Given the description of an element on the screen output the (x, y) to click on. 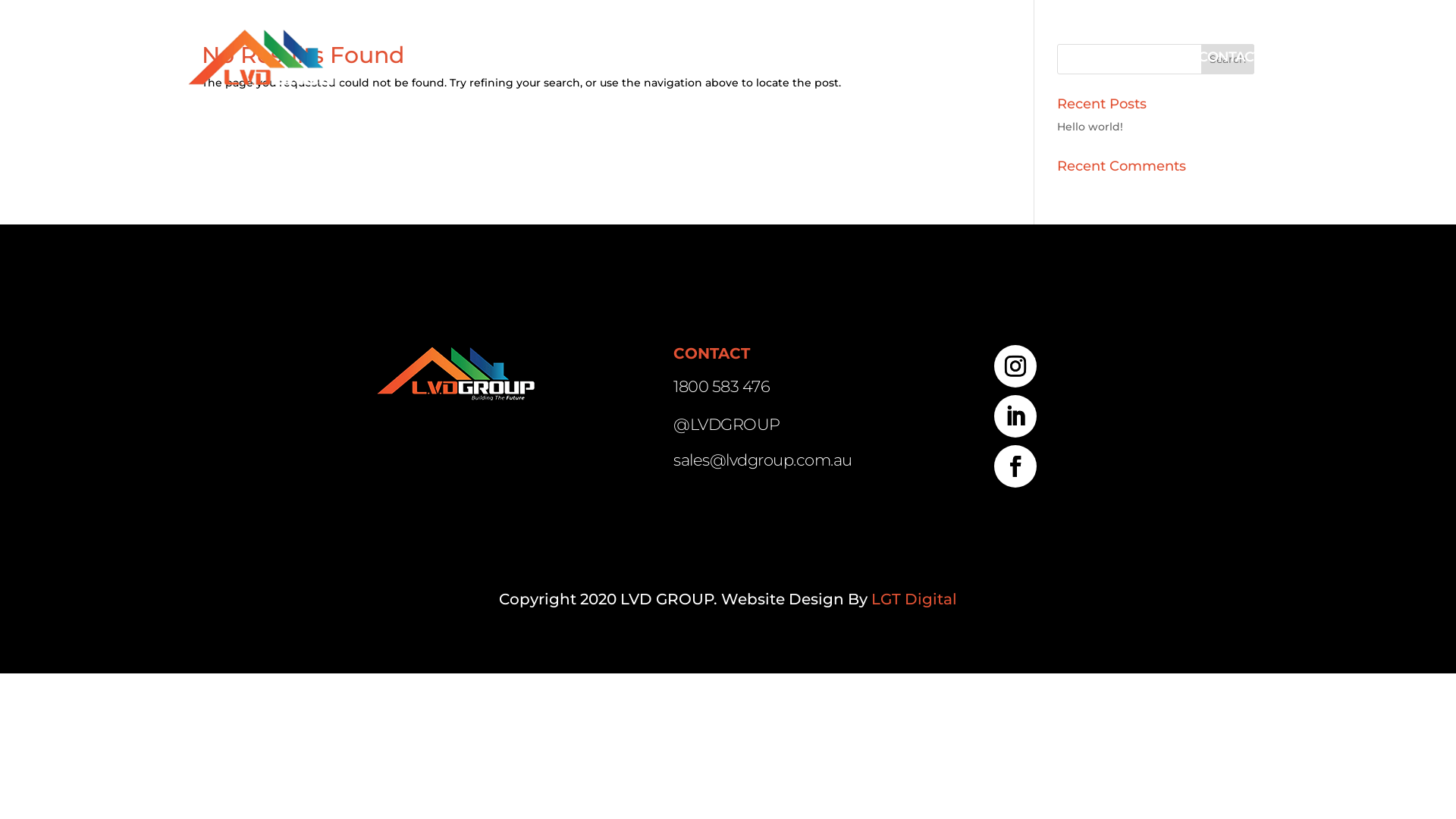
Hello world! Element type: text (1090, 126)
Follow on LinkedIn Element type: hover (1014, 416)
Follow on Instagram Element type: hover (1014, 366)
Follow on Facebook Element type: hover (1014, 466)
footer logo Element type: hover (455, 372)
1800 583 476 Element type: text (721, 385)
Search Element type: text (1227, 58)
SERVICES Element type: text (1008, 56)
ABOUT Element type: text (902, 56)
PROJECTS Element type: text (1122, 56)
HOME Element type: text (816, 56)
LGT Digital Element type: text (914, 598)
@LVDGROUP Element type: text (726, 423)
sales@lvdgroup.com.au Element type: text (762, 459)
CONTACT Element type: text (1229, 56)
